Given the description of an element on the screen output the (x, y) to click on. 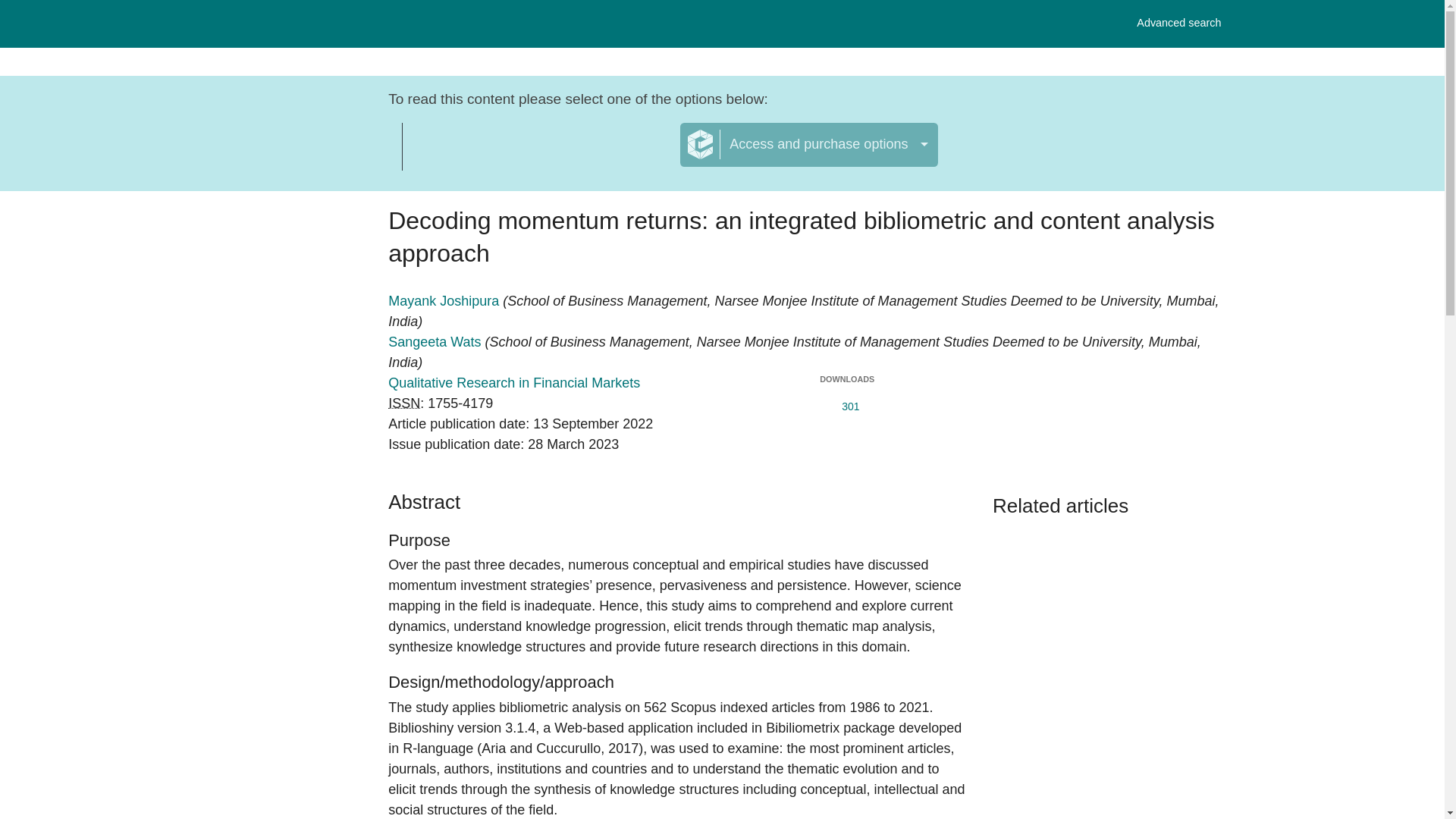
Qualitative Research in Financial Markets (514, 382)
Mayank Joshipura (445, 300)
Sangeeta Wats (436, 341)
Access and purchase options (808, 144)
Access through your institution (541, 153)
International Standard Serial Number. (404, 403)
This item has been downloaded 301 times since 2022. (846, 403)
